Given the description of an element on the screen output the (x, y) to click on. 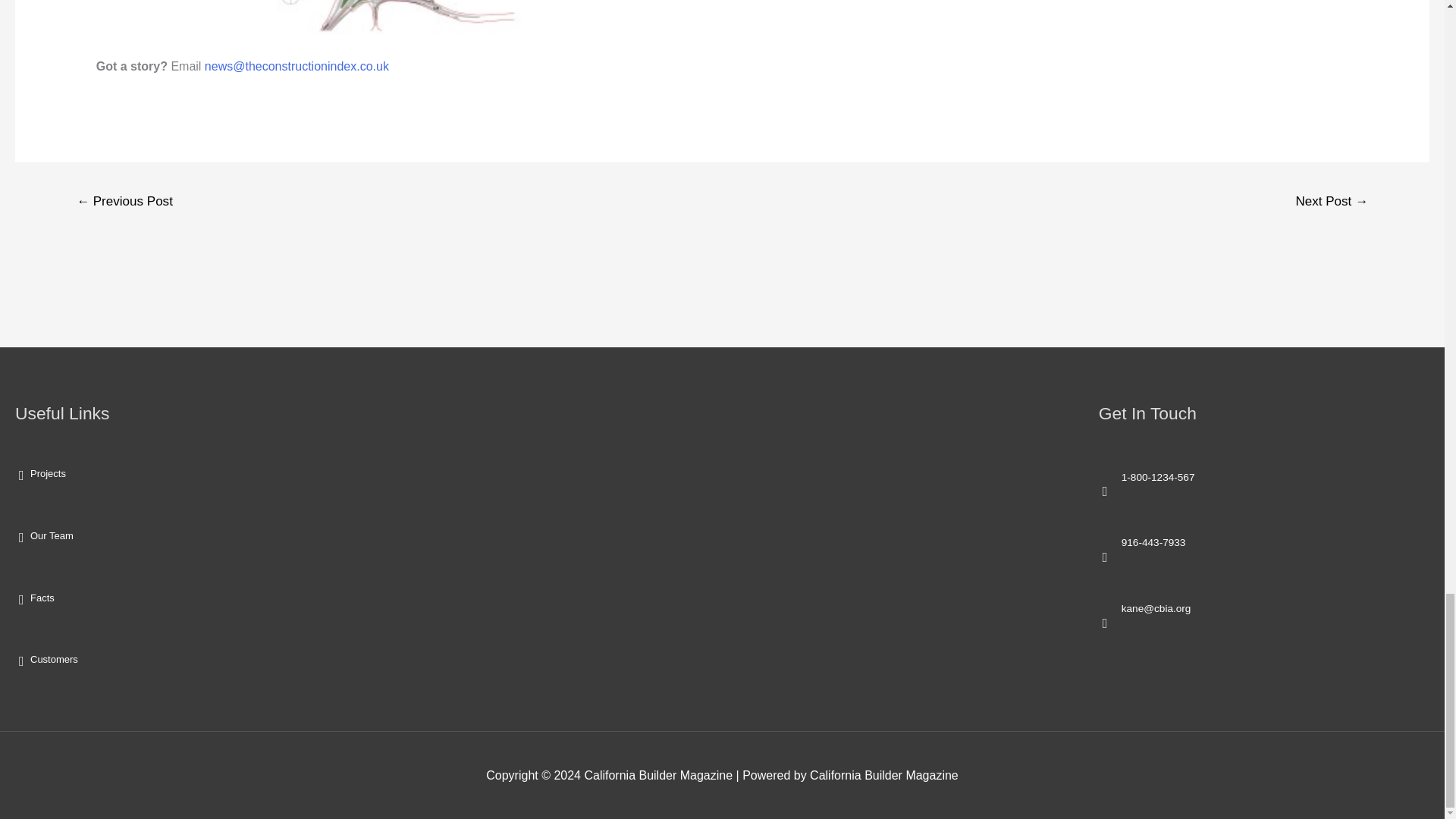
Facts (42, 597)
Our Team (52, 535)
Projects (47, 473)
Customers (54, 659)
